Given the description of an element on the screen output the (x, y) to click on. 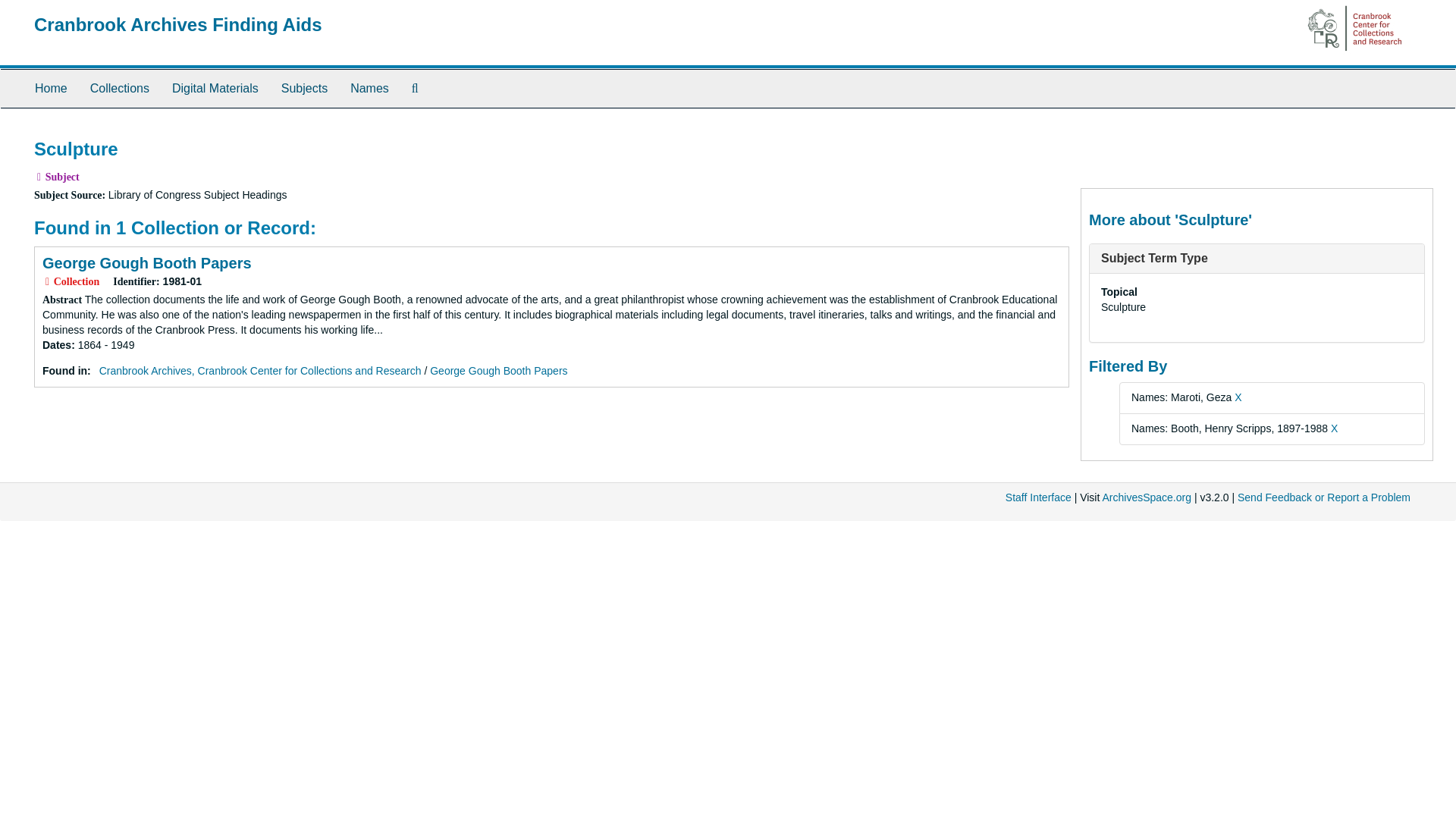
Remove this filter  (1334, 428)
Search The Archives (414, 88)
Return to the ArchivesSpace homepage (177, 24)
George Gough Booth Papers (146, 262)
Collections (119, 88)
X (1237, 397)
translation missing: en.Home (50, 88)
Remove this filter  (1237, 397)
Cranbrook Archives Finding Aids (177, 24)
Send Feedback or Report a Problem (1323, 497)
translation missing: en.dates (56, 345)
Digital Materials (214, 88)
Page Actions (1139, 131)
Subjects (304, 88)
